Given the description of an element on the screen output the (x, y) to click on. 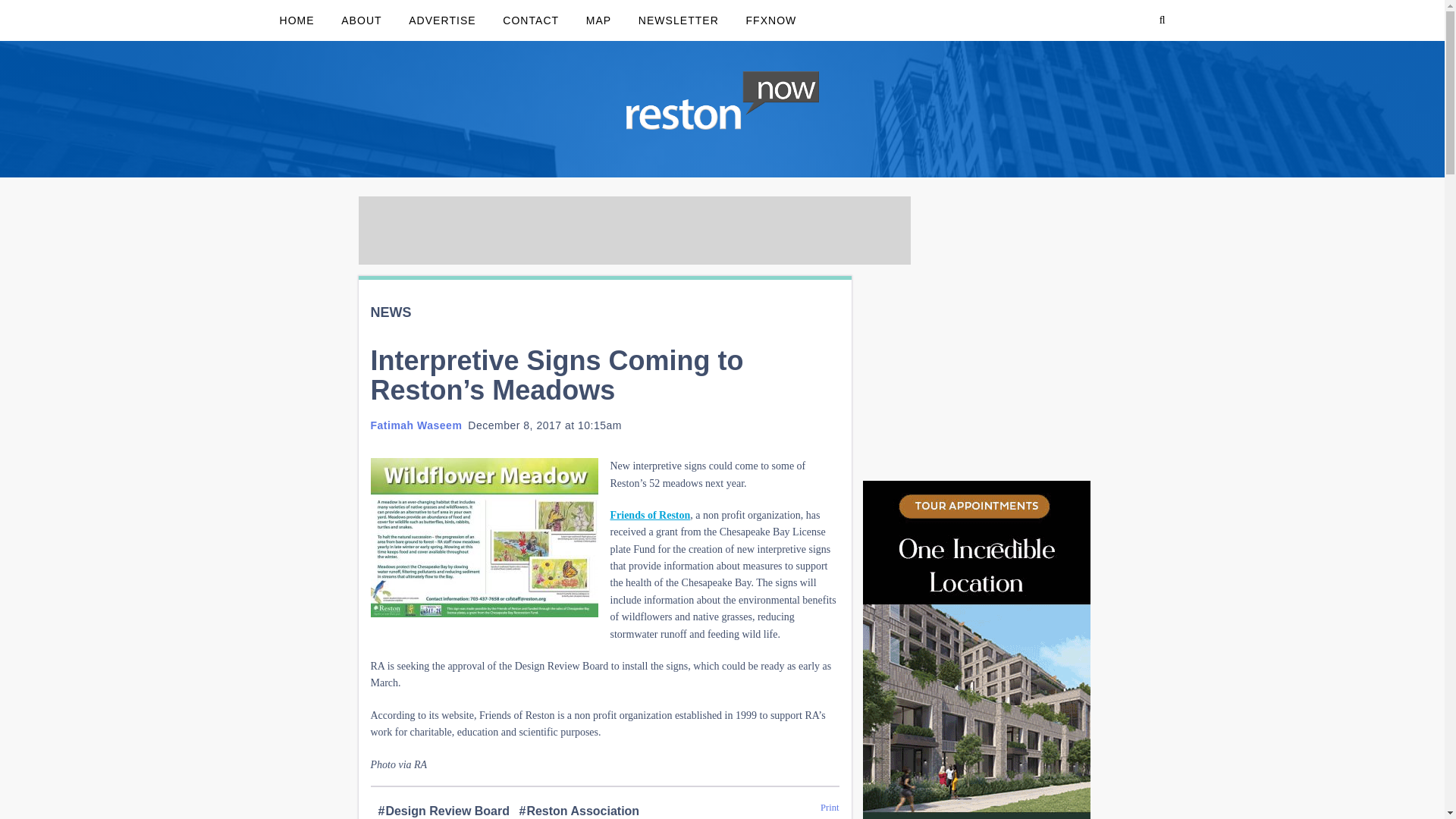
Friends of Reston (650, 514)
NEWS (389, 312)
ABOUT (361, 20)
FFXNOW (770, 20)
HOME (296, 20)
Print (830, 807)
CONTACT (530, 20)
Posts by Fatimah Waseem (415, 425)
Screen Shot 2017-12-08 at 8.32.22 AM (482, 537)
Design Review Board (443, 810)
Fatimah Waseem (415, 425)
Reston Association (578, 810)
Printer Friendly and PDF (830, 807)
NEWSLETTER (678, 20)
ADVERTISE (441, 20)
